Given the description of an element on the screen output the (x, y) to click on. 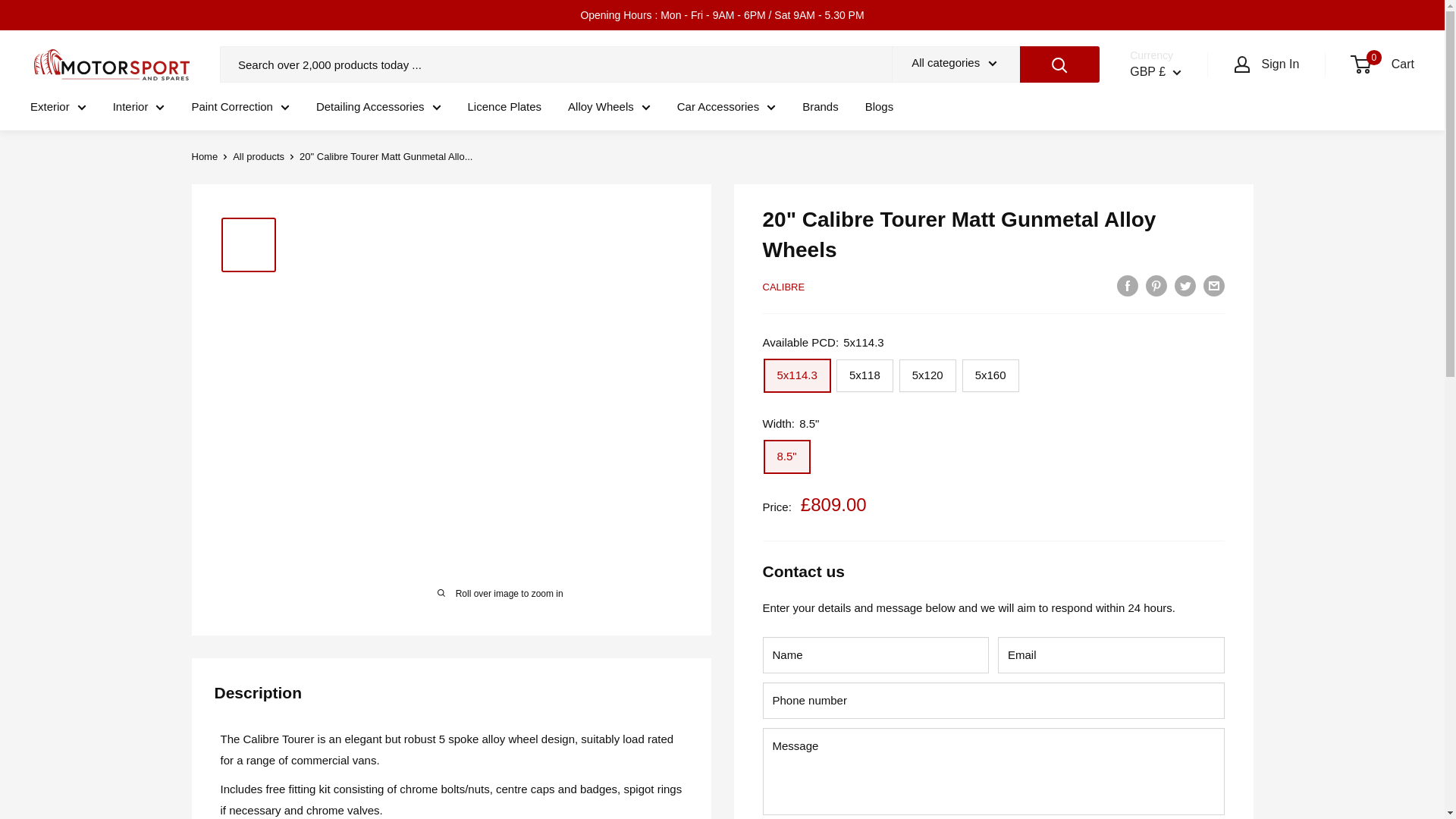
5x114.3 (796, 375)
8.5" (786, 456)
5x120 (927, 375)
5x160 (990, 375)
5x118 (864, 375)
